Given the description of an element on the screen output the (x, y) to click on. 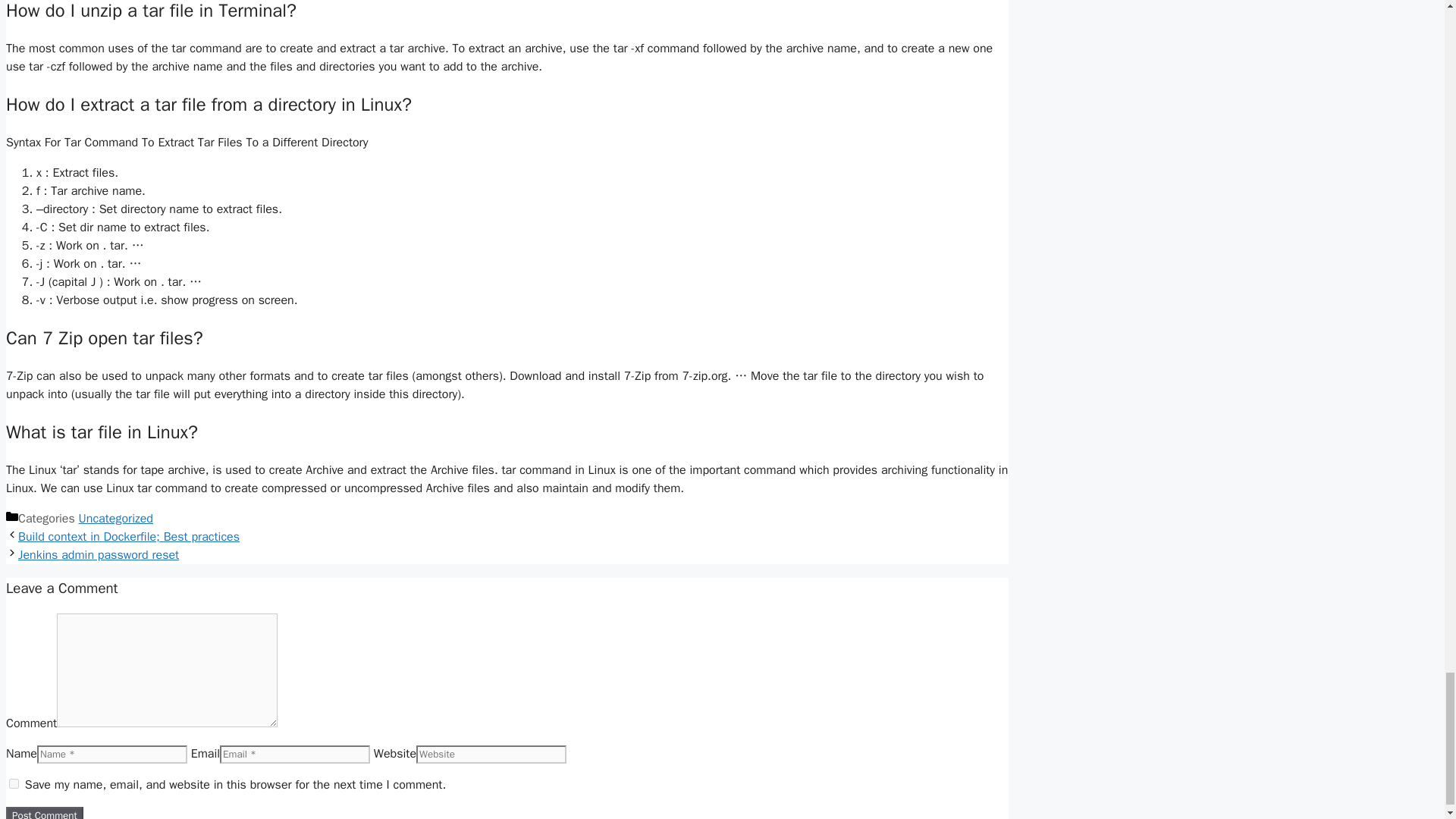
Jenkins admin password reset (98, 554)
Build context in Dockerfile; Best practices (128, 536)
yes (13, 783)
Uncategorized (115, 518)
